Given the description of an element on the screen output the (x, y) to click on. 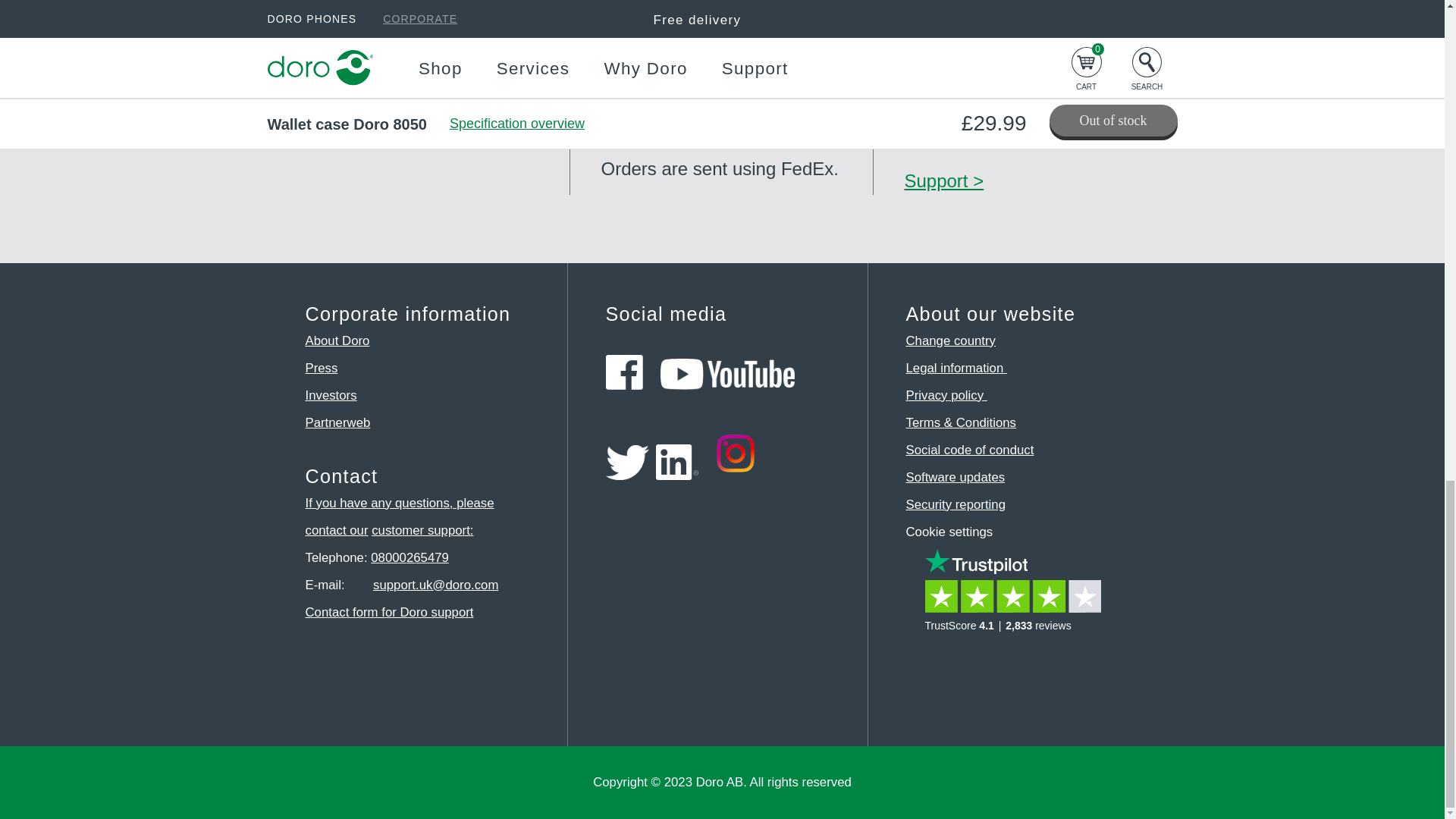
Click here to enter Doros support web page (398, 516)
Click here to call our support at 08000265479 (409, 557)
Click here to visit Doros Instagram account (735, 475)
Customer reviews powered by Trustpilot (1017, 603)
Click here to go directly to Doro contact form for support (388, 612)
Support (944, 180)
Click here to enter Doros support web page (422, 530)
Click here for sending an e-mail to our support (434, 585)
